Given the description of an element on the screen output the (x, y) to click on. 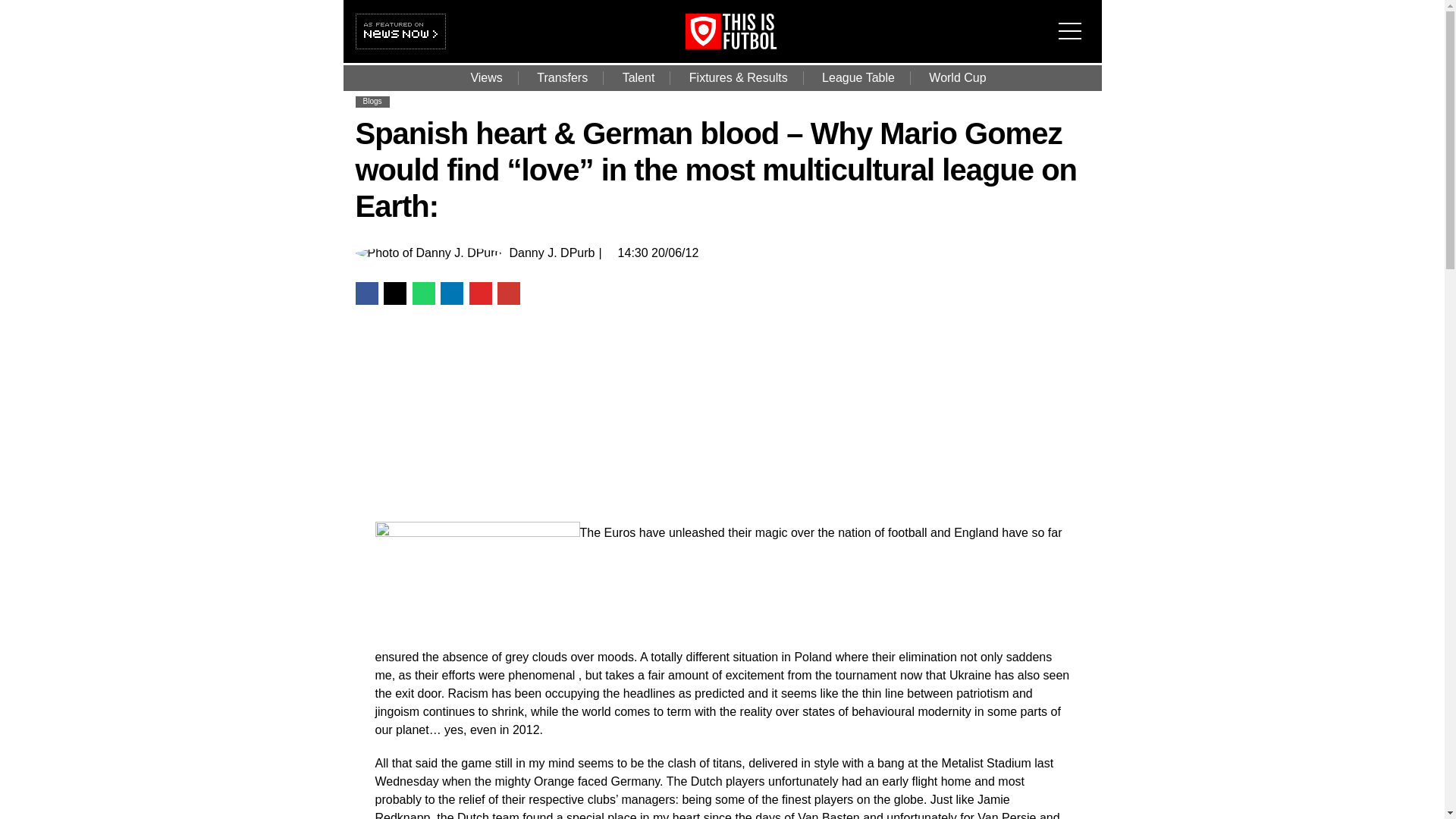
Back to the homepage (751, 44)
World Cup (957, 78)
Transfers (561, 78)
Menu (1074, 21)
share on WhatsApp (423, 292)
Views (485, 78)
Danny J. DPurb (551, 253)
share on Flipboard (480, 292)
share on Email (508, 292)
League Table (858, 78)
share on Facebook (366, 292)
share on Twitter (395, 292)
Blogs (371, 101)
Talent (638, 78)
share on LinkedIn (452, 292)
